Given the description of an element on the screen output the (x, y) to click on. 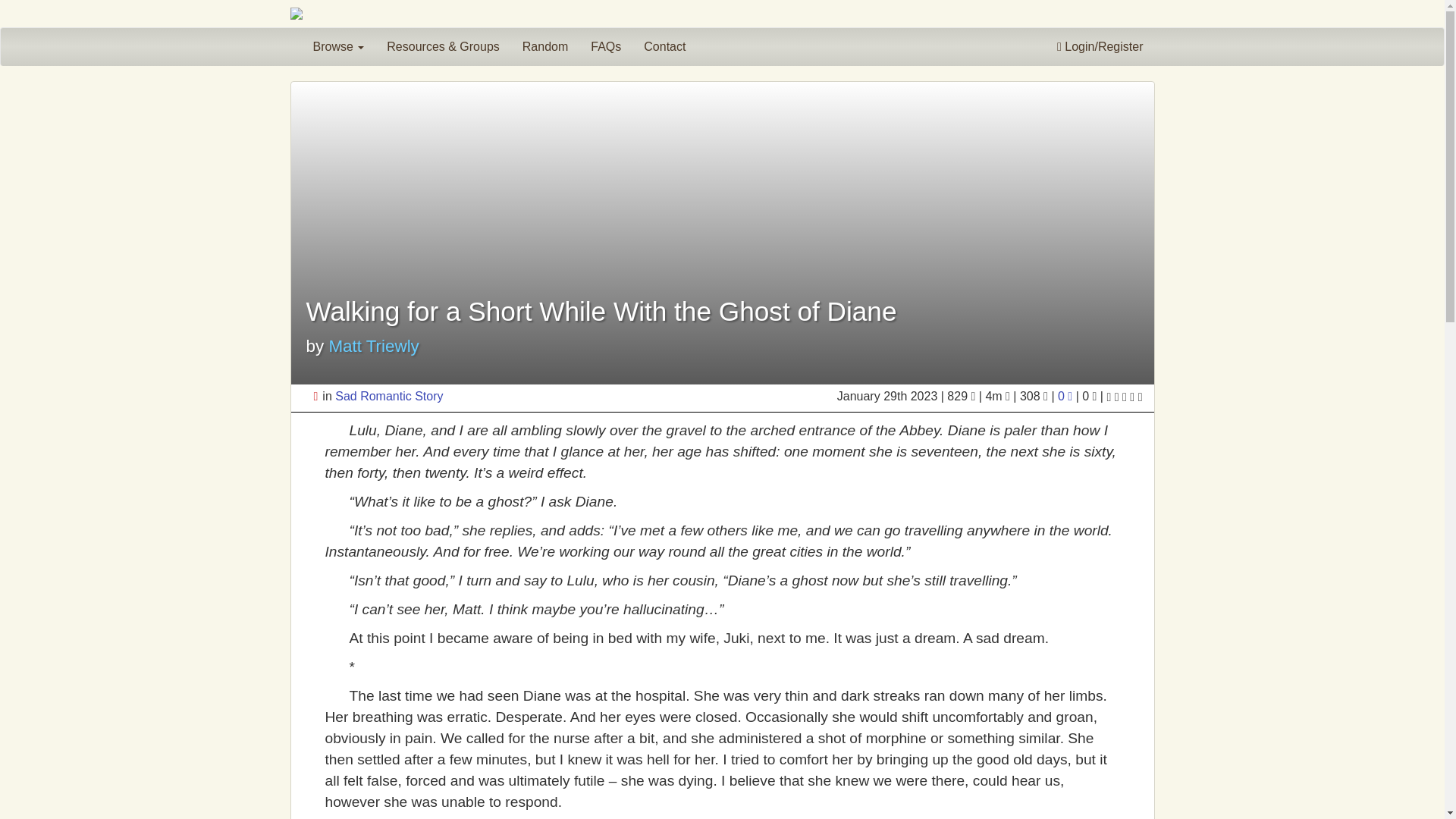
FAQs (605, 46)
Random (545, 46)
0 (1066, 395)
Browse (338, 46)
Contact (664, 46)
Sad Romantic Story (388, 395)
Matt Triewly (374, 345)
